Given the description of an element on the screen output the (x, y) to click on. 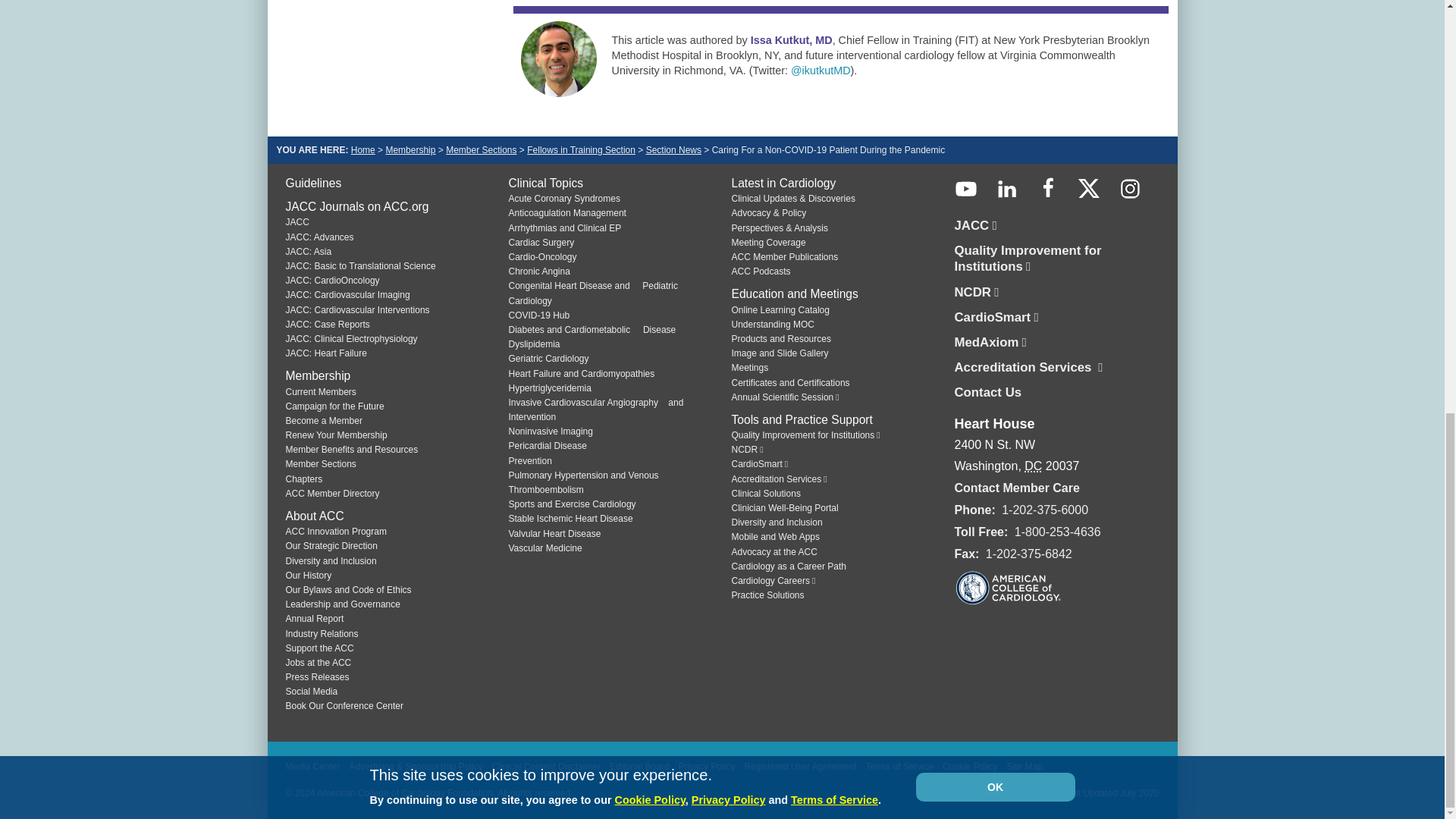
JACC Asia (308, 251)
JACC: Cardiovascular Interventions (357, 309)
JACC: Advances (319, 236)
JACC: Cardiovascular Imaging (347, 294)
Guidelines (312, 182)
